Given the description of an element on the screen output the (x, y) to click on. 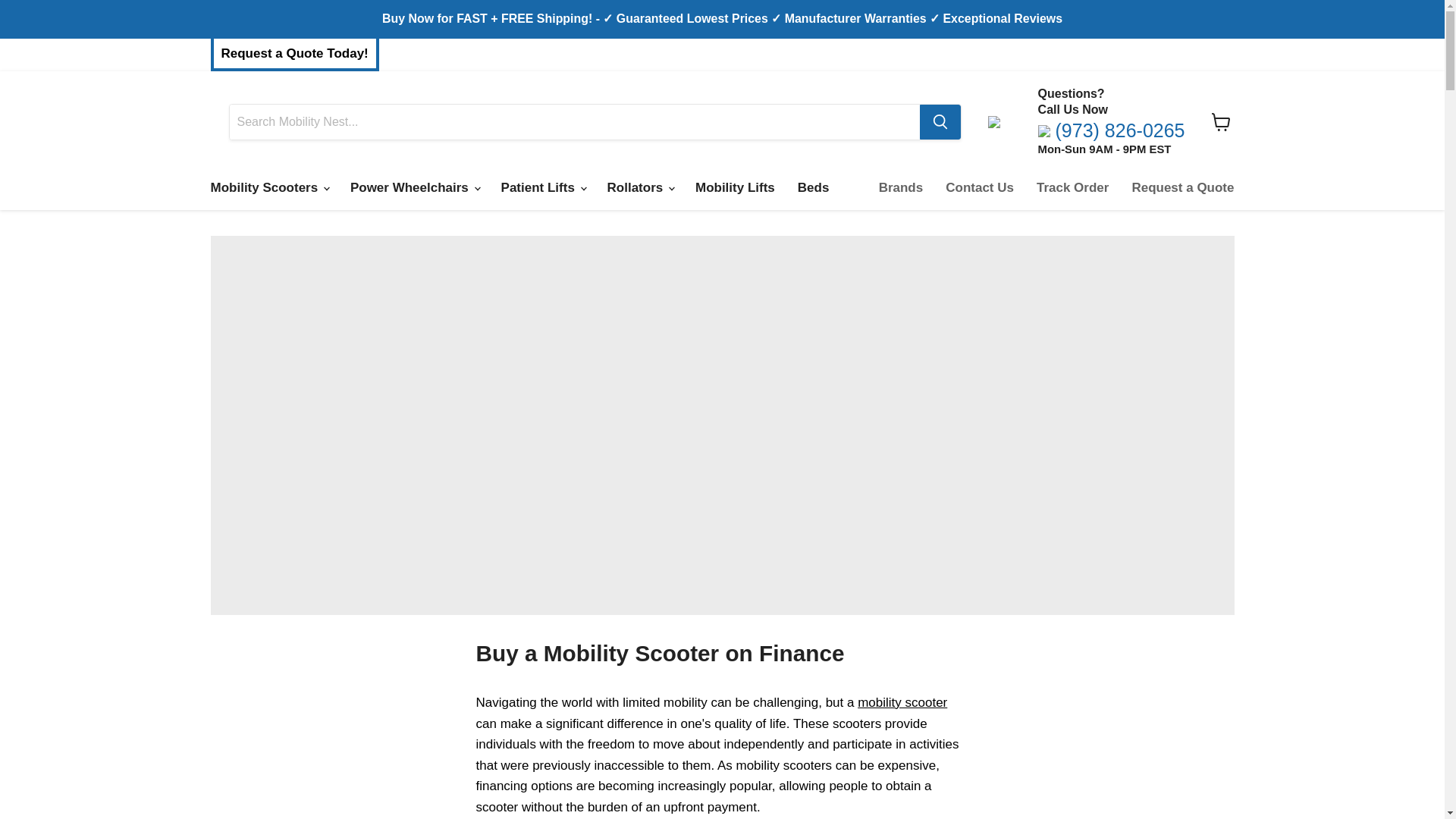
Request a Quote Today! (294, 55)
Brands (900, 187)
Mobility Lifts (735, 187)
Track Order (1072, 187)
View cart (1221, 121)
Contact Us (979, 187)
Beds (813, 187)
Mobility Scooter (902, 702)
